Given the description of an element on the screen output the (x, y) to click on. 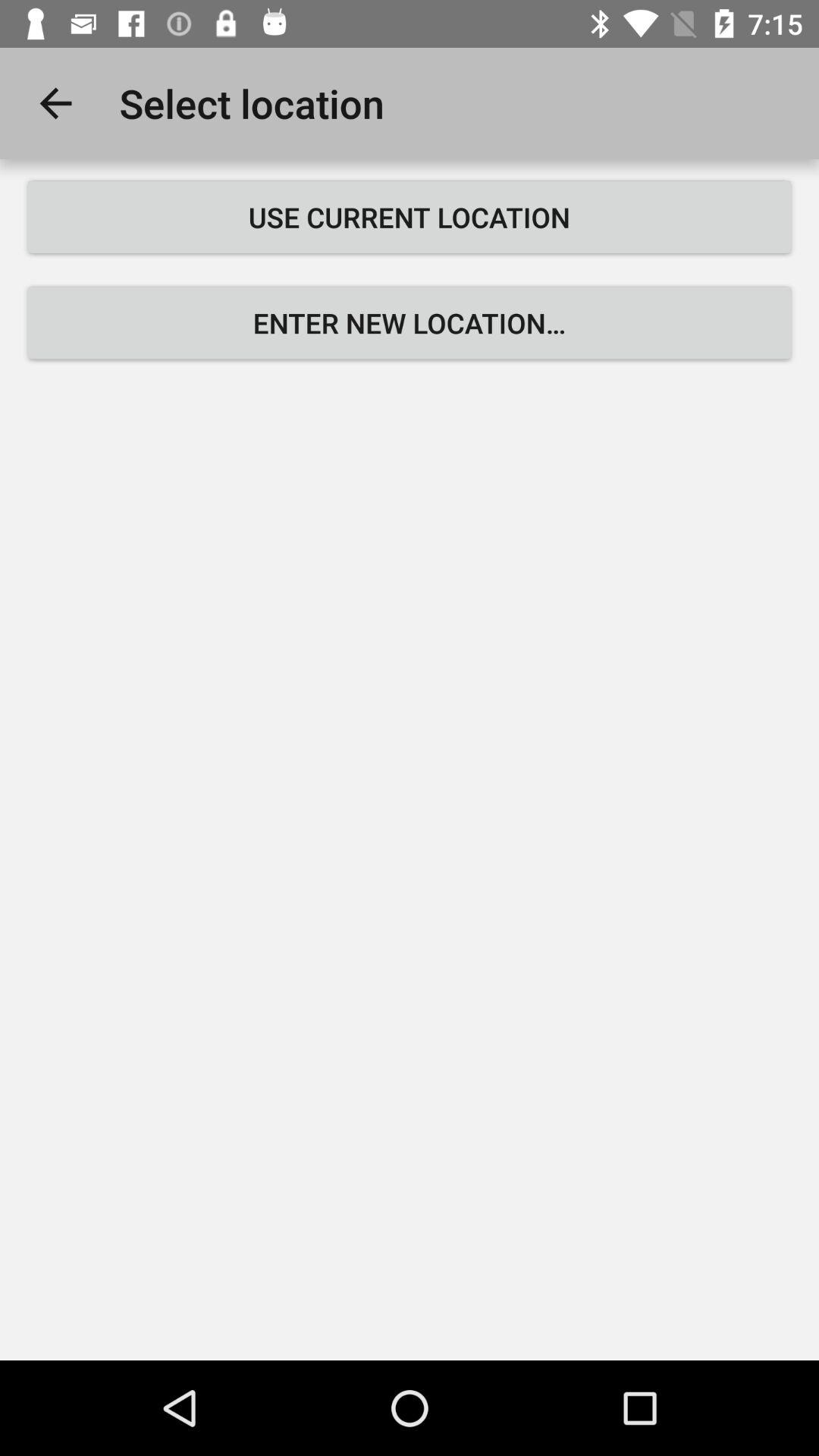
click app to the left of select location icon (55, 103)
